Given the description of an element on the screen output the (x, y) to click on. 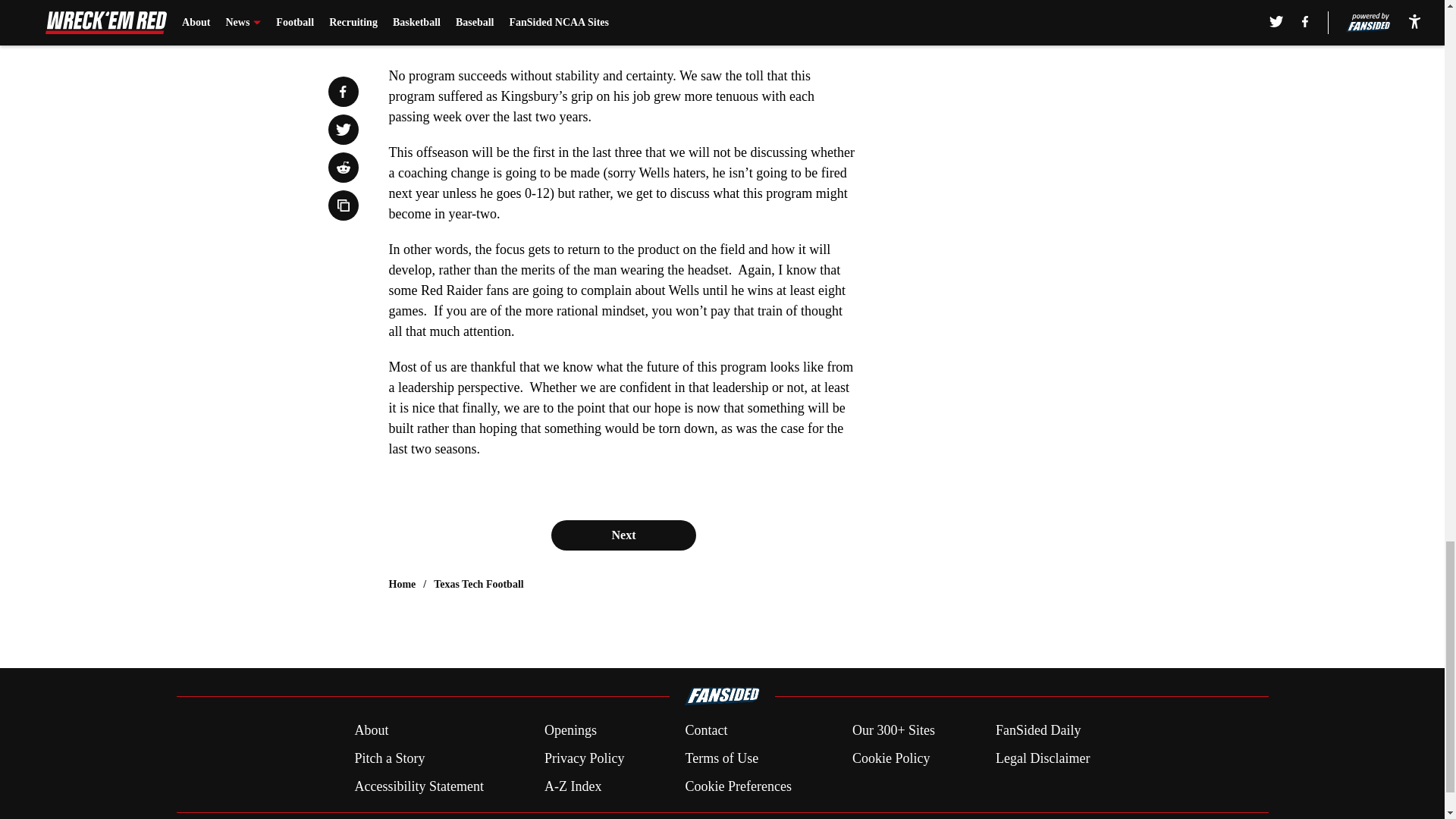
Contact (705, 730)
Pitch a Story (389, 758)
About (370, 730)
Texas Tech Football (478, 584)
FanSided Daily (1038, 730)
Openings (570, 730)
Home (401, 584)
Terms of Use (721, 758)
Next (622, 535)
Privacy Policy (584, 758)
